Given the description of an element on the screen output the (x, y) to click on. 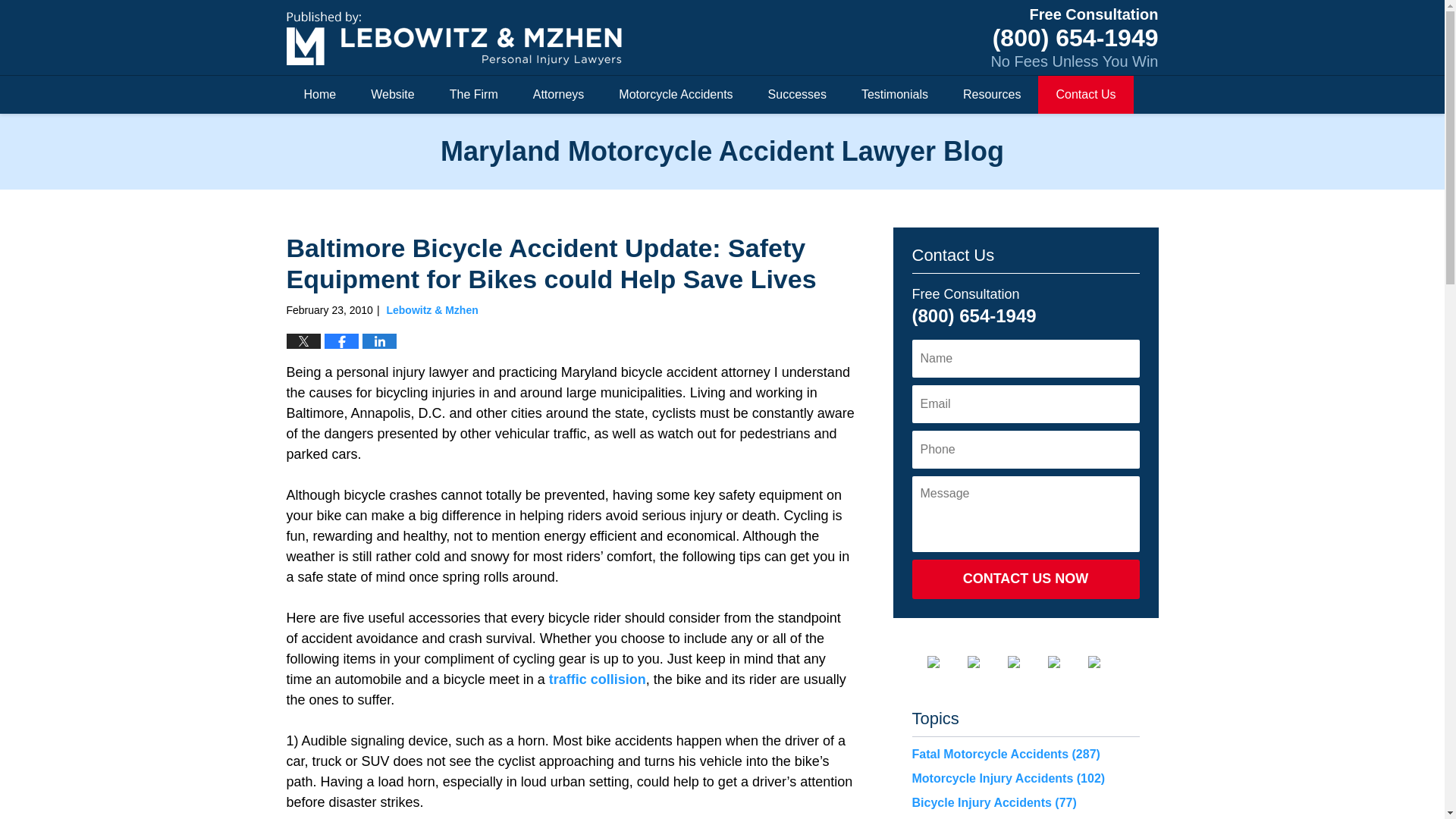
Feed (1105, 662)
LinkedIn (1025, 662)
traffic collision (597, 679)
Contact Us (1085, 94)
Twitter (986, 662)
The Firm (473, 94)
Facebook (944, 662)
Website (392, 94)
Resources (991, 94)
Attorneys (558, 94)
